Given the description of an element on the screen output the (x, y) to click on. 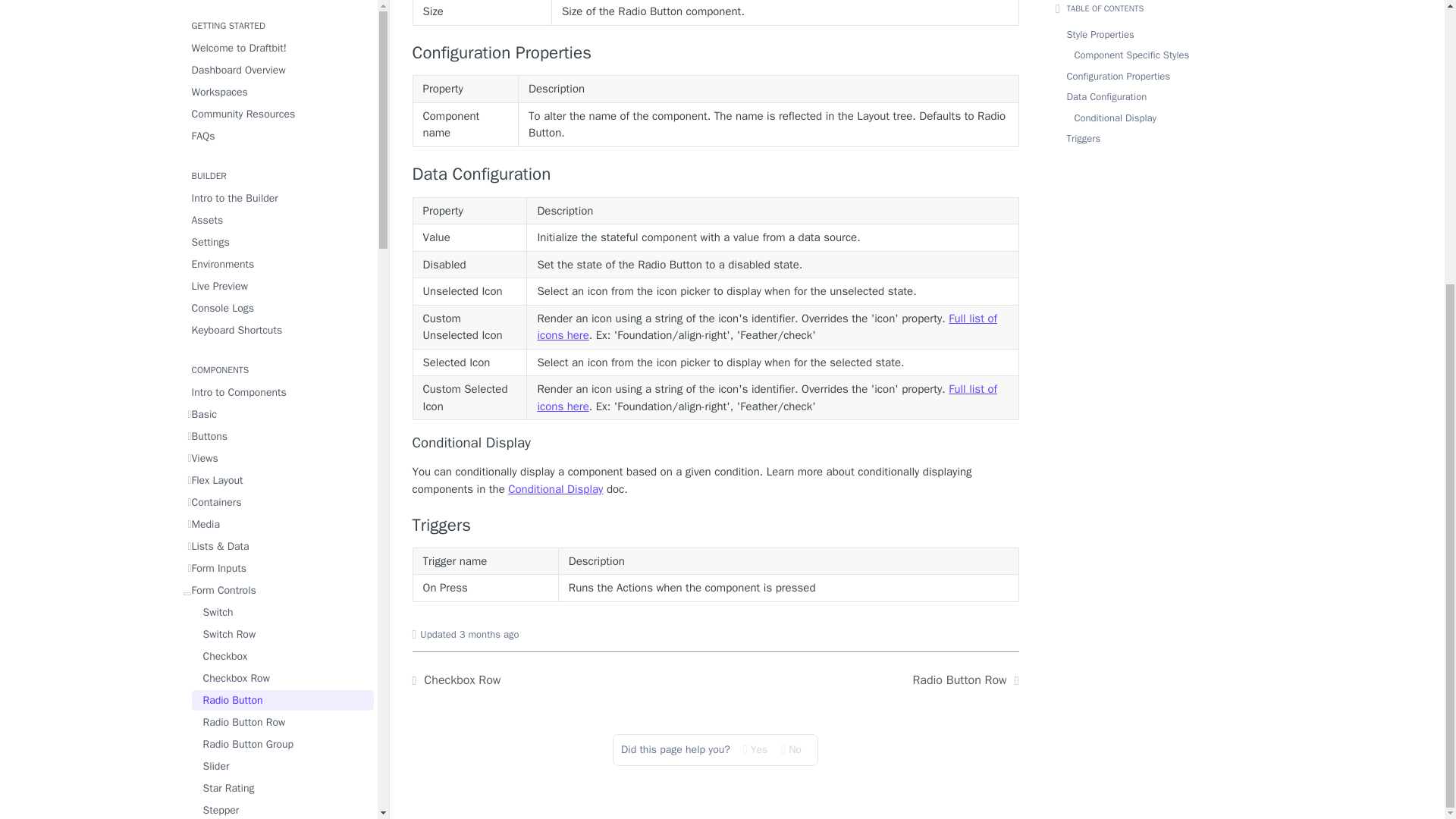
Basic (277, 55)
Buttons (277, 77)
Conditional Display (715, 443)
Intro to Components (277, 34)
Data Configuration (715, 174)
Configuration Properties (715, 52)
Triggers (715, 525)
